Given the description of an element on the screen output the (x, y) to click on. 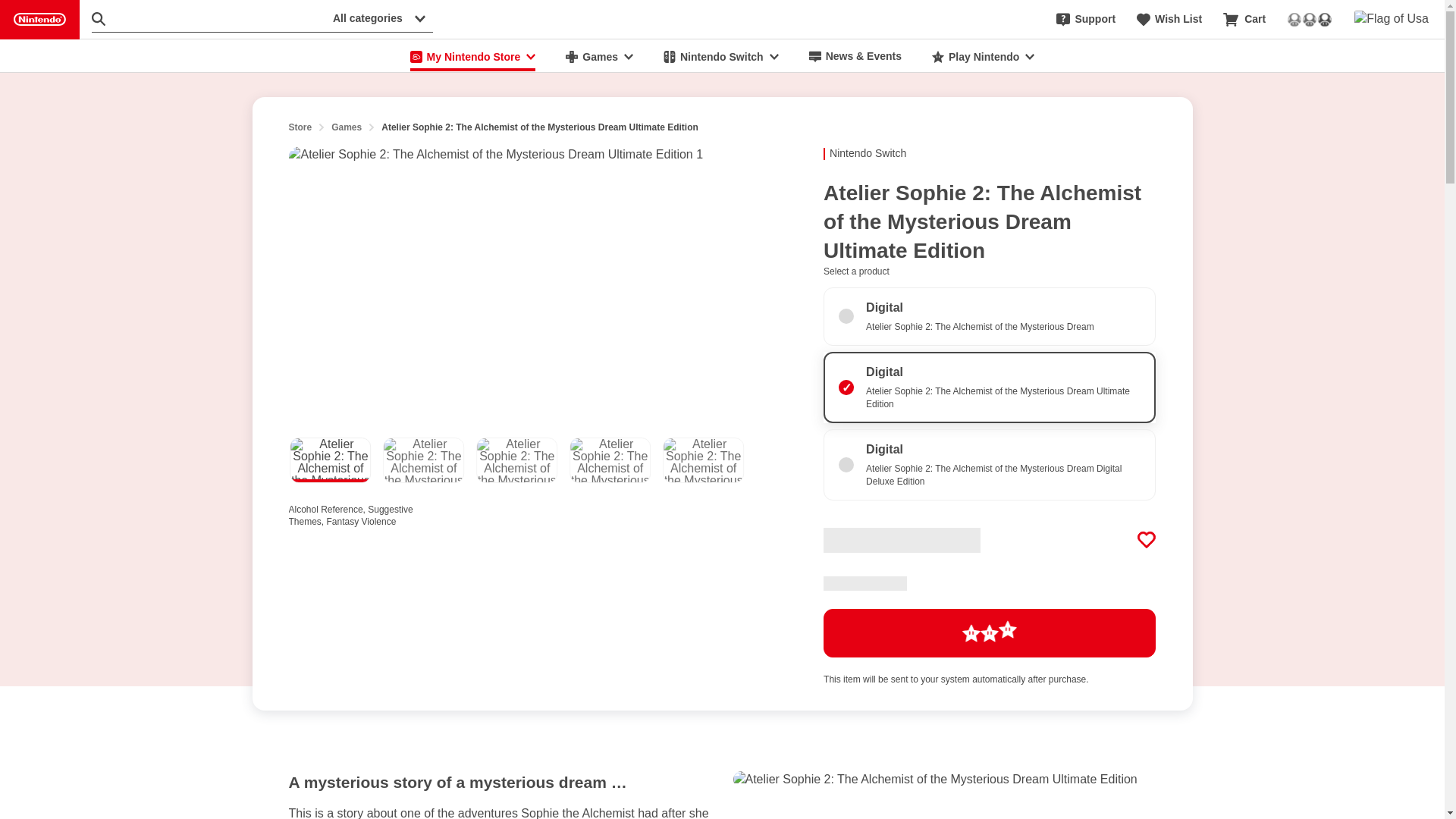
Wish List (1169, 19)
Games (346, 127)
Games (599, 56)
Add to Wish List (1146, 539)
Store (299, 127)
Support (1086, 19)
Nintendo (40, 19)
Alcohol Reference, Suggestive Themes, Fantasy Violence (363, 513)
